Given the description of an element on the screen output the (x, y) to click on. 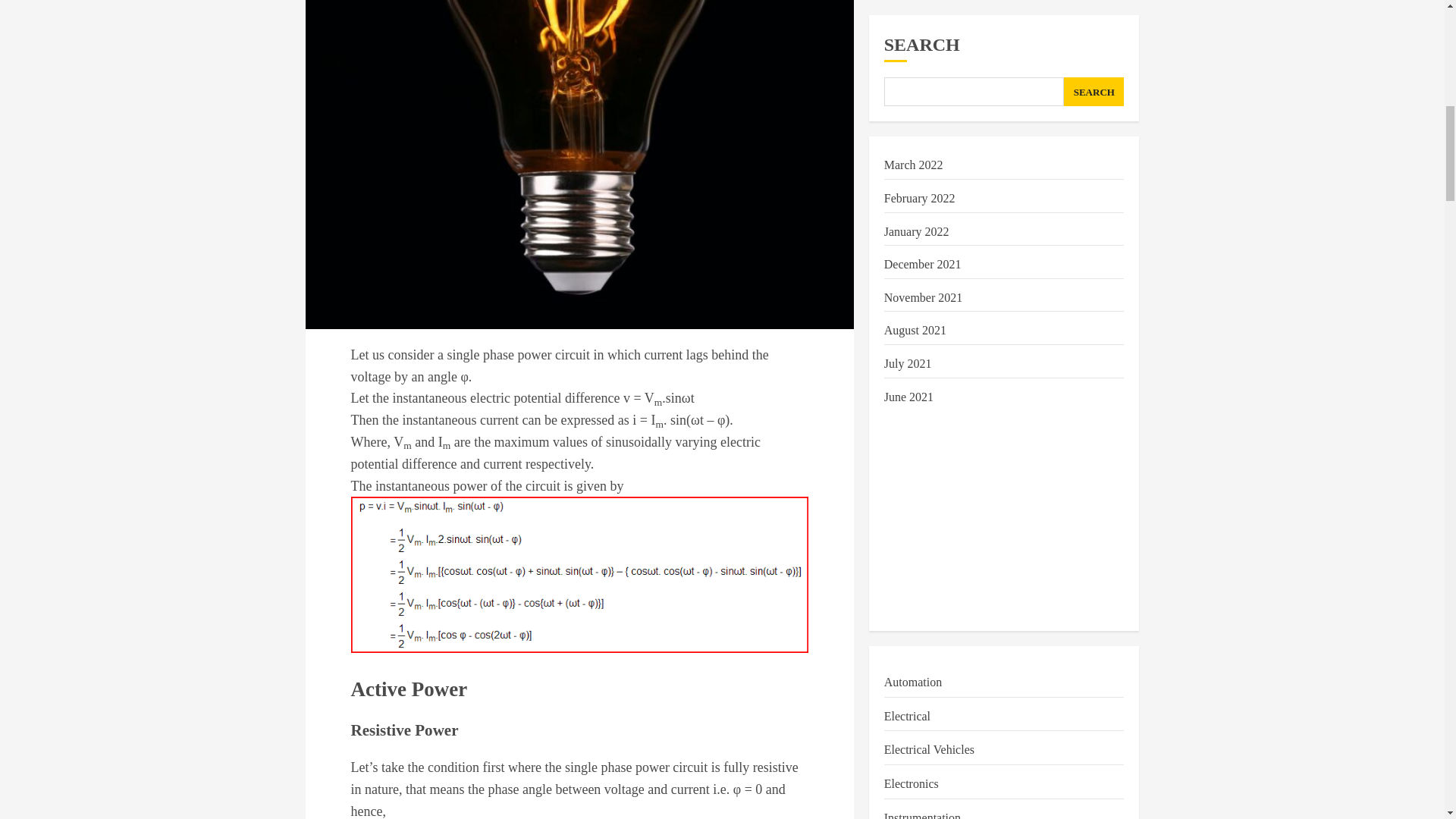
Advertisement (1003, 146)
